Given the description of an element on the screen output the (x, y) to click on. 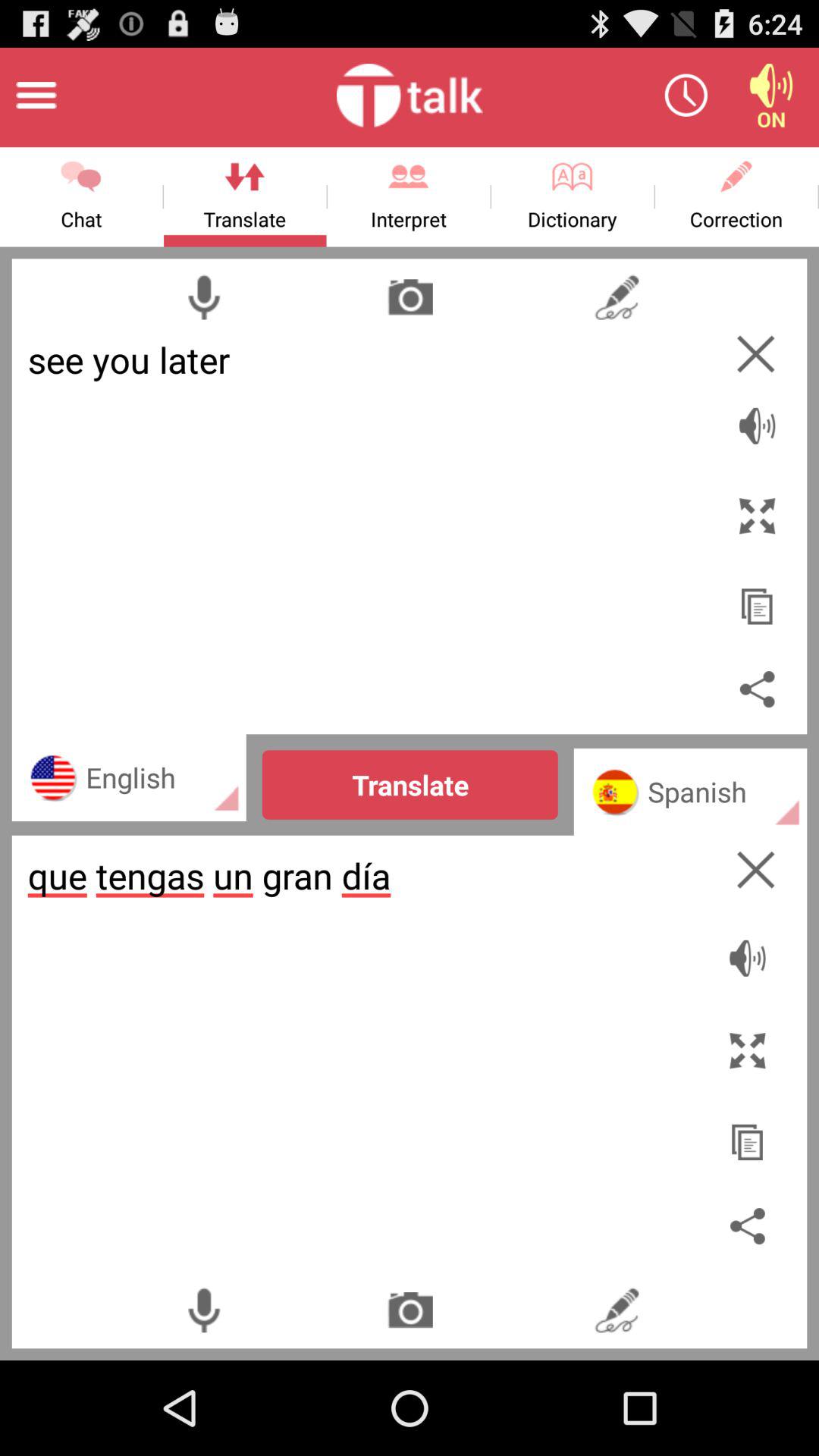
share content (757, 688)
